Given the description of an element on the screen output the (x, y) to click on. 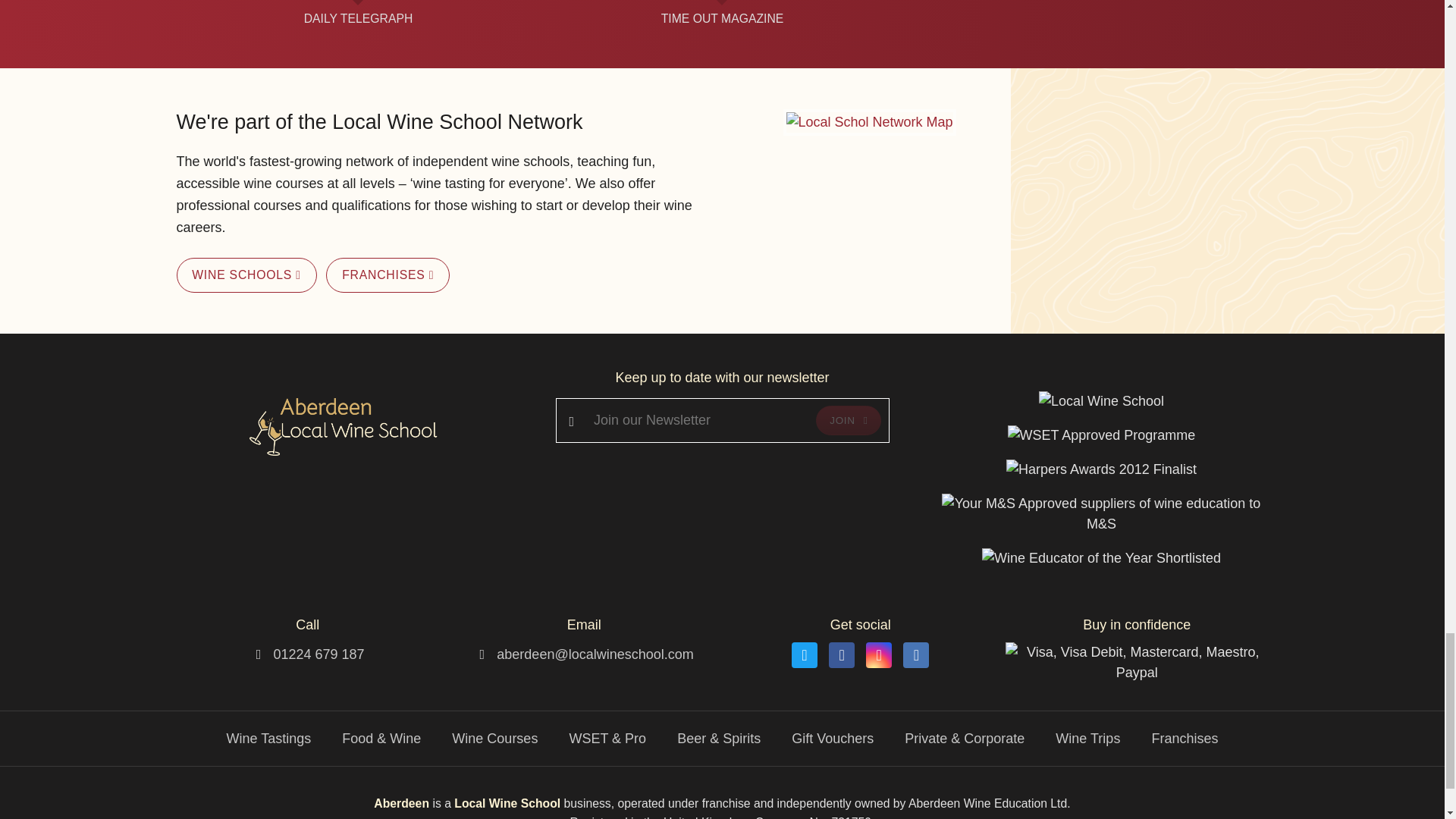
Visit our Instagram (878, 655)
Call us (318, 654)
Send us an email (594, 654)
Visit our Facebook (841, 655)
Visit our LinkedIn (915, 655)
Visit our Twitter (804, 655)
